Given the description of an element on the screen output the (x, y) to click on. 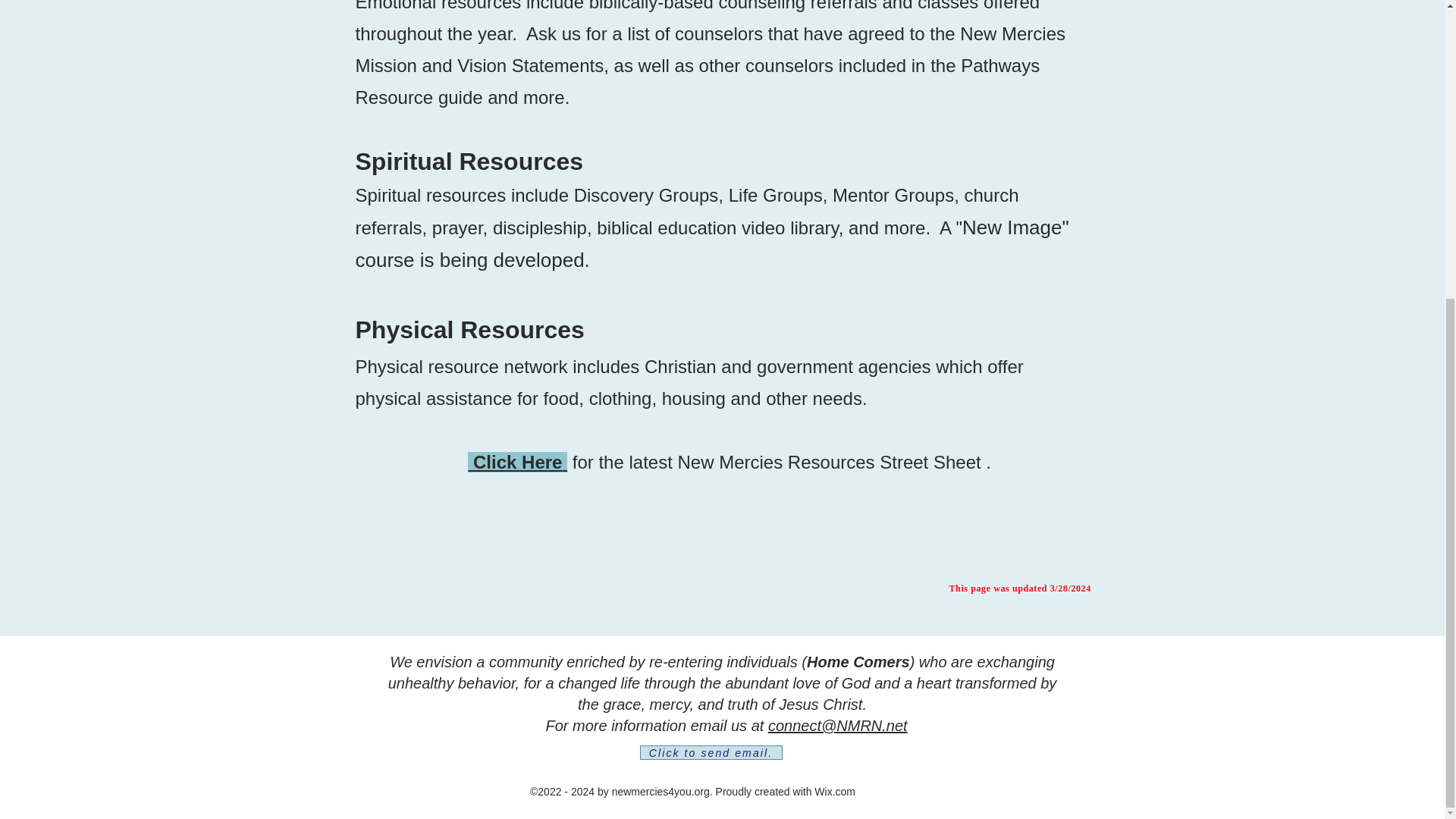
Click to send email. (711, 752)
 Click Here  (517, 462)
